Given the description of an element on the screen output the (x, y) to click on. 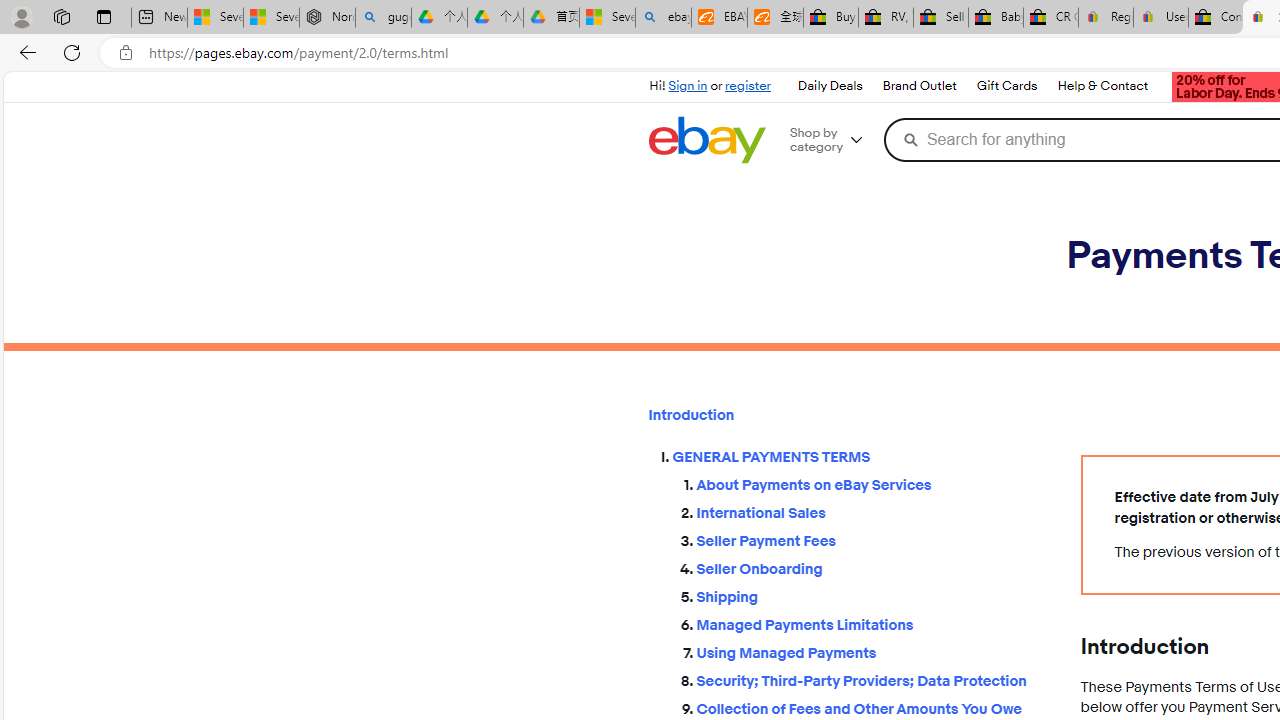
Introduction (848, 415)
Shop by category (833, 140)
Sign in (687, 85)
Gift Cards (1006, 86)
About Payments on eBay Services (872, 481)
GENERAL PAYMENTS TERMS (860, 457)
International Sales (872, 509)
Brand Outlet (918, 85)
Seller Payment Fees (872, 541)
Brand Outlet (919, 86)
Seller Onboarding (872, 569)
